Given the description of an element on the screen output the (x, y) to click on. 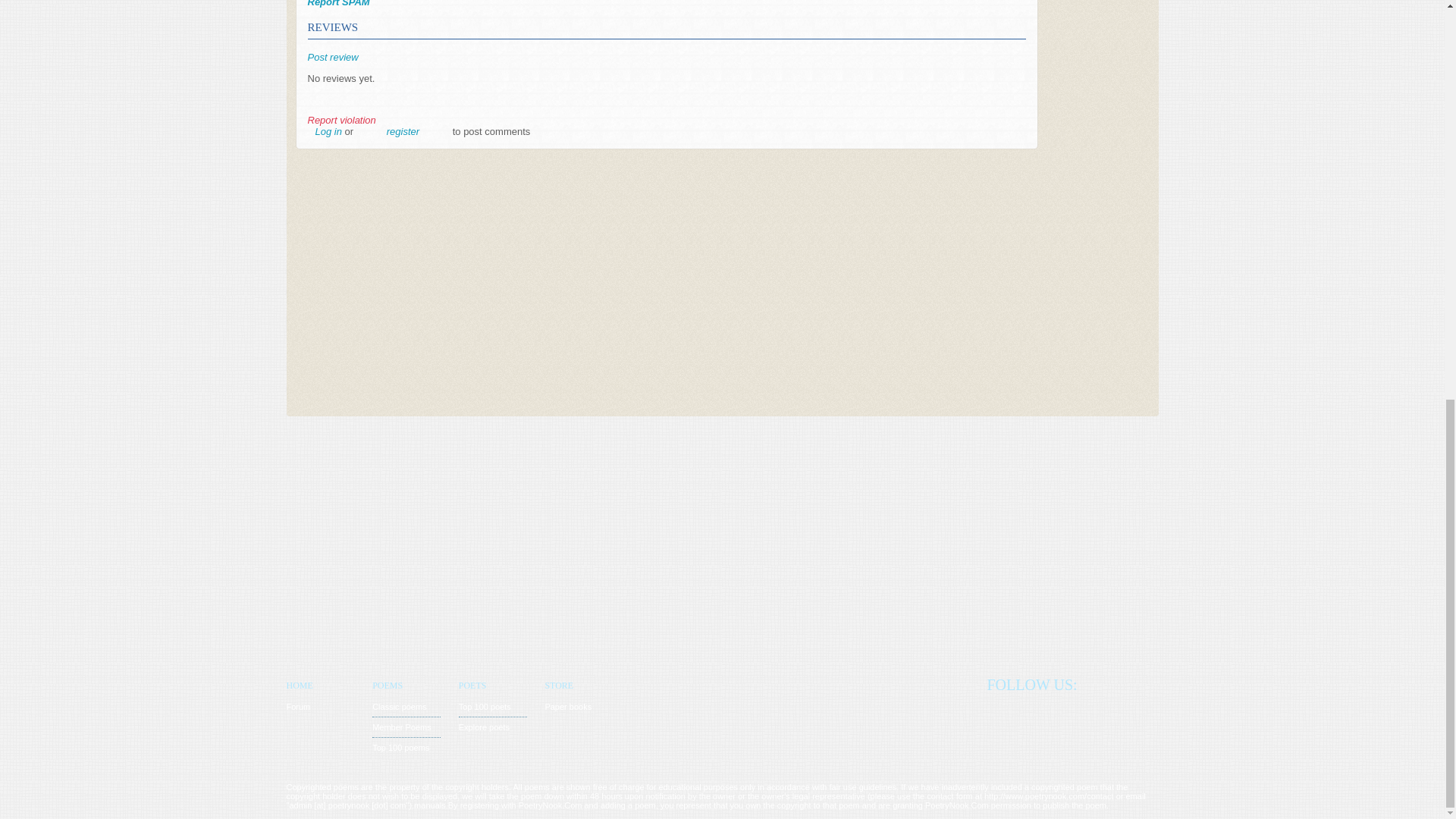
POEMS (406, 685)
Report violation (341, 120)
Twitter (1095, 724)
Follow Poetry Nook on Twitter (1095, 724)
Post review (332, 57)
Follow Poetry Nook on RSS (1122, 724)
register (402, 131)
Classic poems (406, 706)
Report SPAM (338, 3)
Follow Poetry Nook on Facebook (1150, 724)
